Given the description of an element on the screen output the (x, y) to click on. 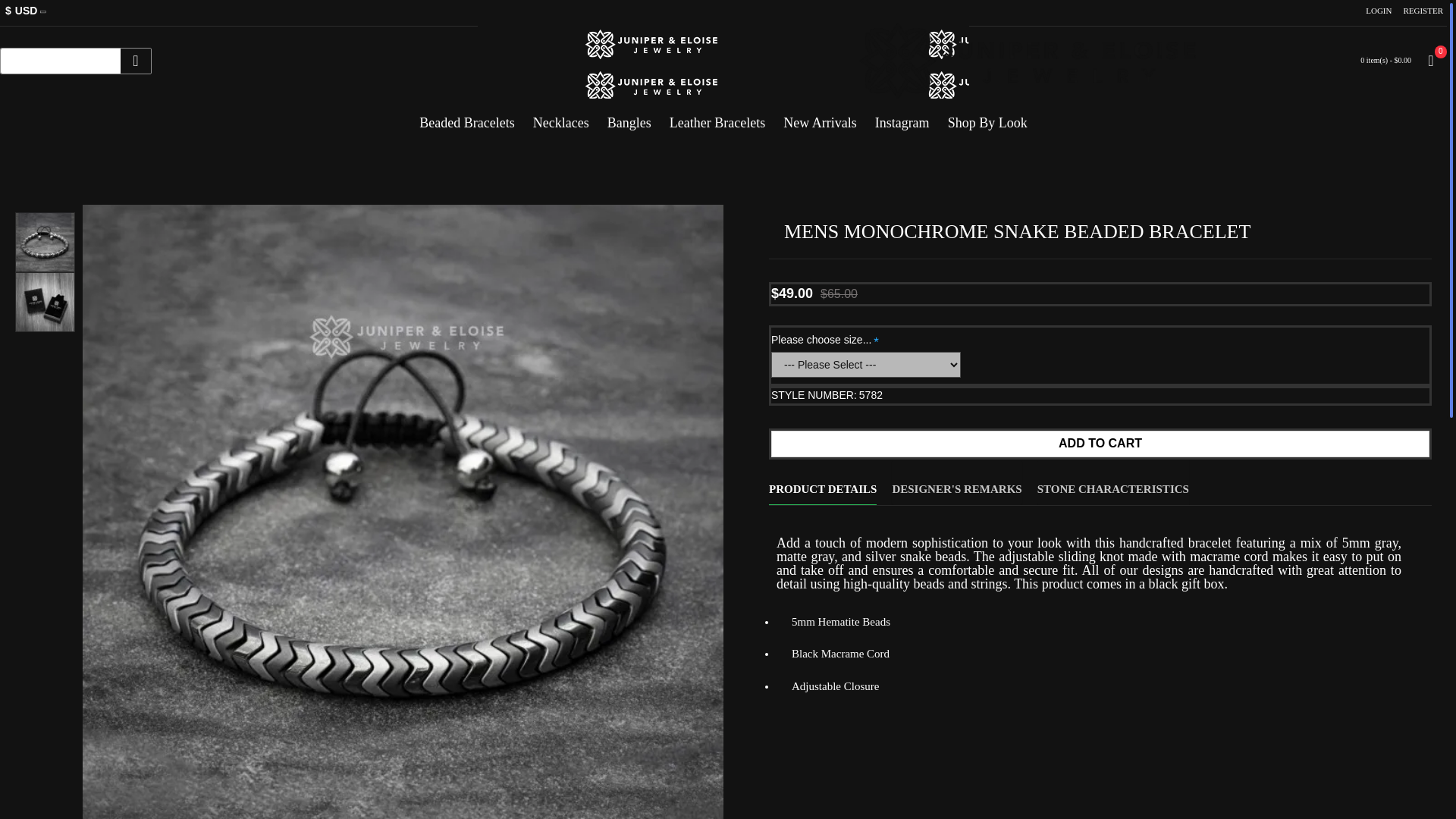
PRODUCT DETAILS (822, 481)
Bangles (629, 117)
LOGIN (1377, 11)
ADD TO CART (1100, 443)
Mens Monochrome Snake Beaded Bracelet (44, 241)
Beaded Bracelets (466, 117)
Leather Bracelets (717, 117)
REGISTER (1423, 11)
Shop By Look (987, 117)
